Given the description of an element on the screen output the (x, y) to click on. 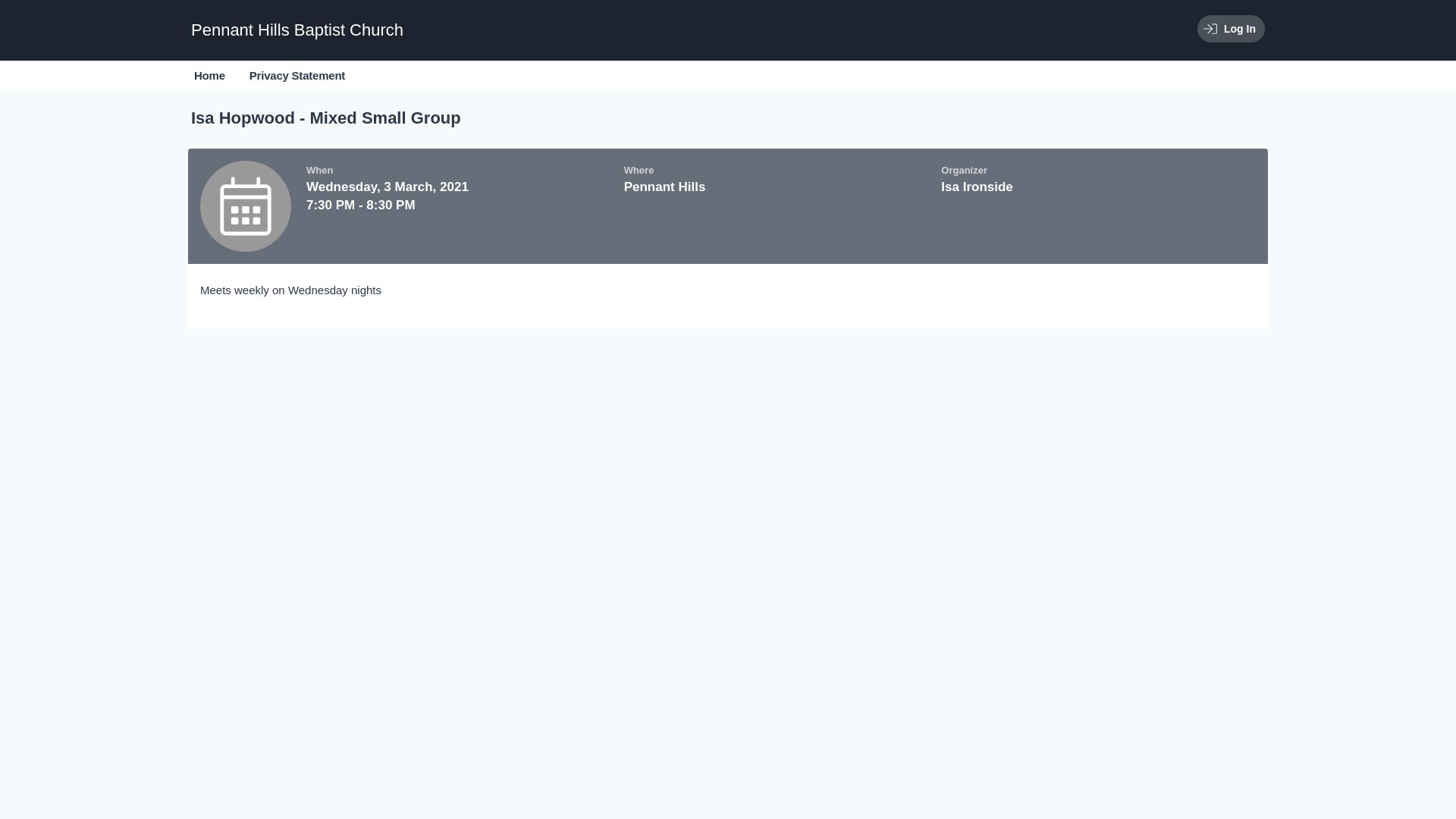
Log In Element type: text (1230, 28)
Privacy Statement Element type: text (297, 75)
Pennant Hills Baptist Church Element type: text (297, 30)
Home Element type: text (209, 75)
